Given the description of an element on the screen output the (x, y) to click on. 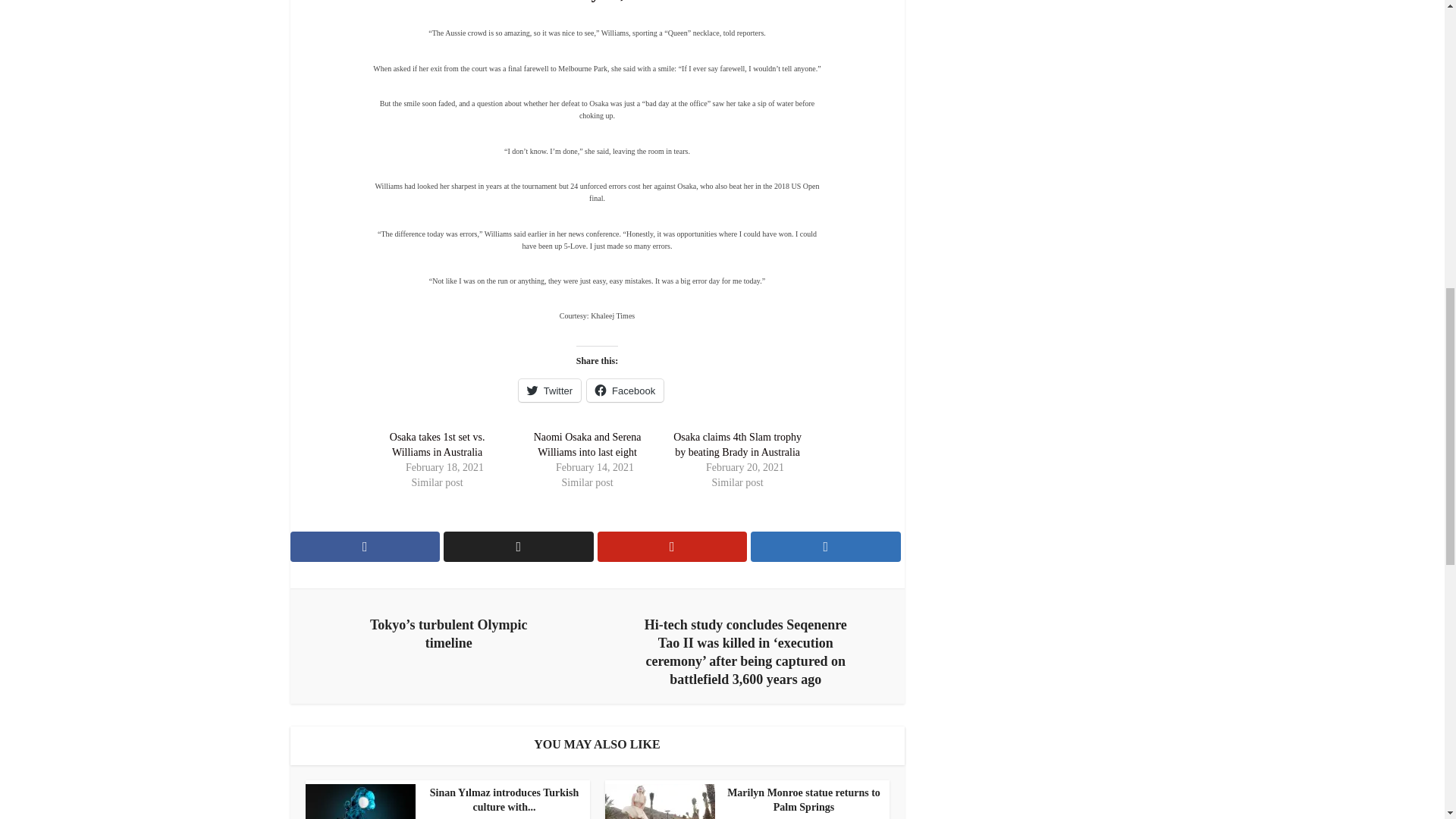
Naomi Osaka and Serena Williams into last eight (587, 444)
Click to share on Twitter (549, 390)
Osaka claims 4th Slam trophy by beating Brady in Australia (737, 444)
Click to share on Facebook (624, 390)
Osaka takes 1st set vs. Williams in Australia (437, 444)
Osaka claims 4th Slam trophy by beating Brady in Australia (737, 444)
Osaka takes 1st set vs. Williams in Australia (437, 444)
Twitter (549, 390)
Naomi Osaka and Serena Williams into last eight (587, 444)
Facebook (624, 390)
Marilyn Monroe statue returns to Palm Springs (743, 800)
